Given the description of an element on the screen output the (x, y) to click on. 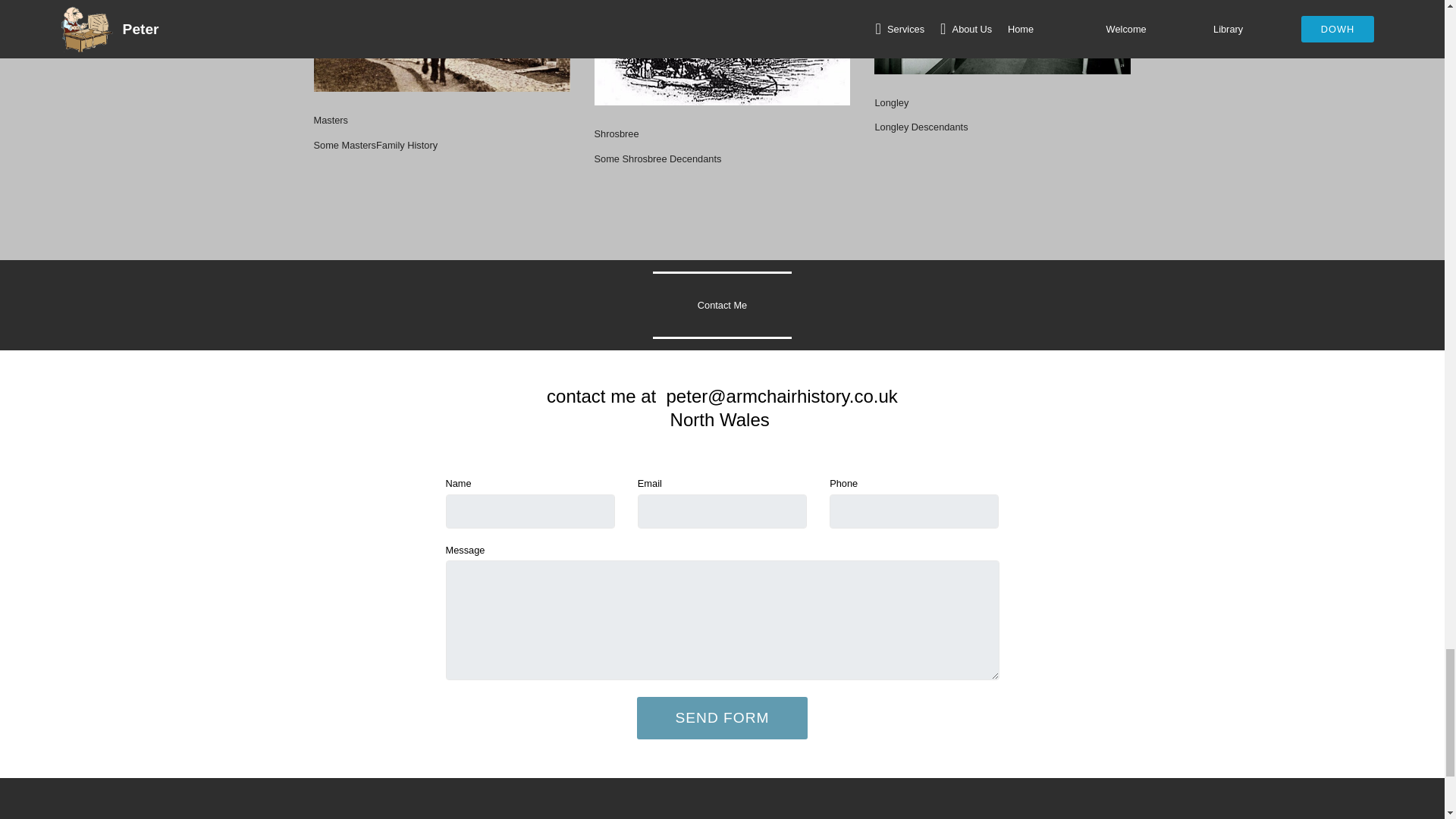
SEND FORM (721, 717)
